Given the description of an element on the screen output the (x, y) to click on. 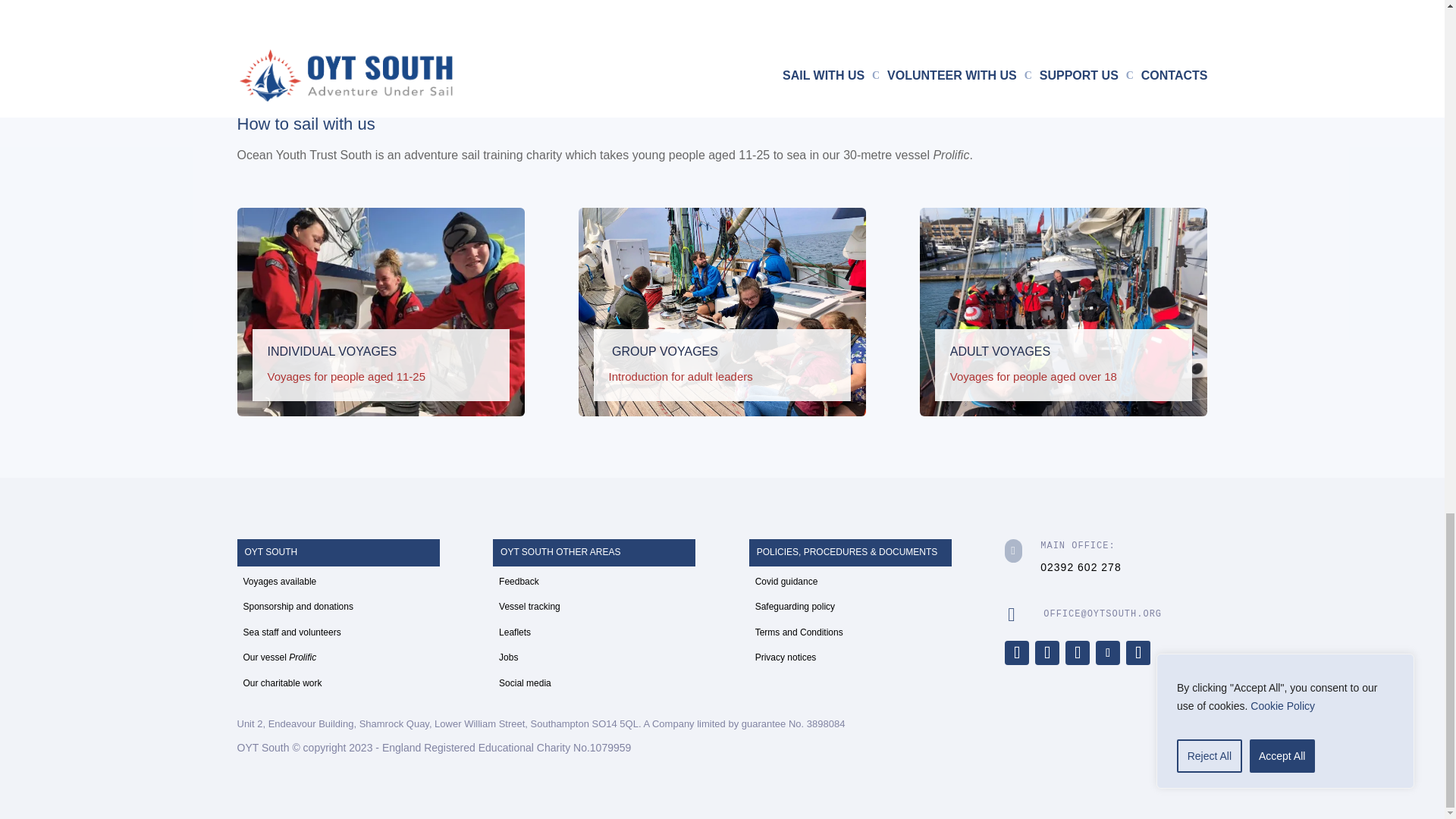
Follow on LinkedIn (1137, 652)
Follow on X (1047, 652)
Follow on Instagram (1077, 652)
Follow on Youtube (1107, 652)
Follow on Facebook (1016, 652)
